Given the description of an element on the screen output the (x, y) to click on. 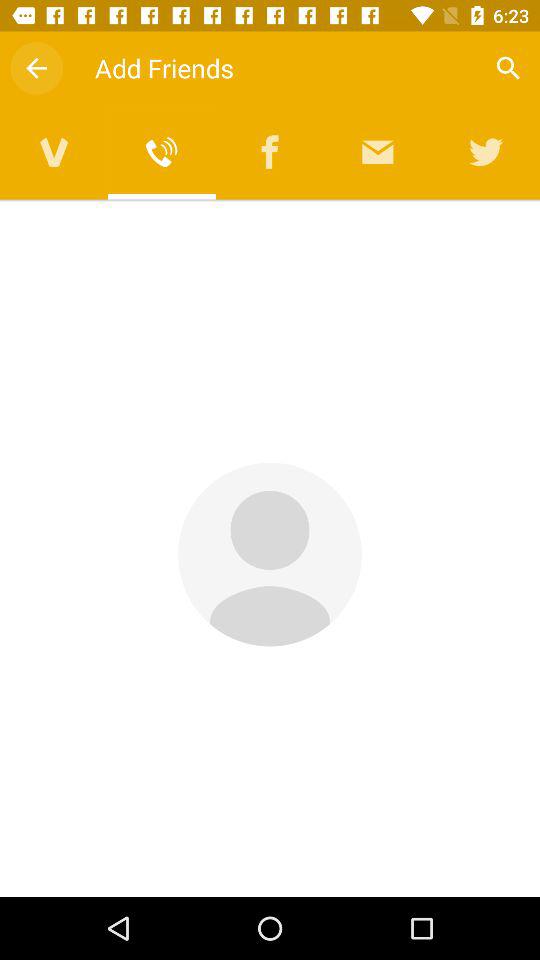
call (162, 152)
